Given the description of an element on the screen output the (x, y) to click on. 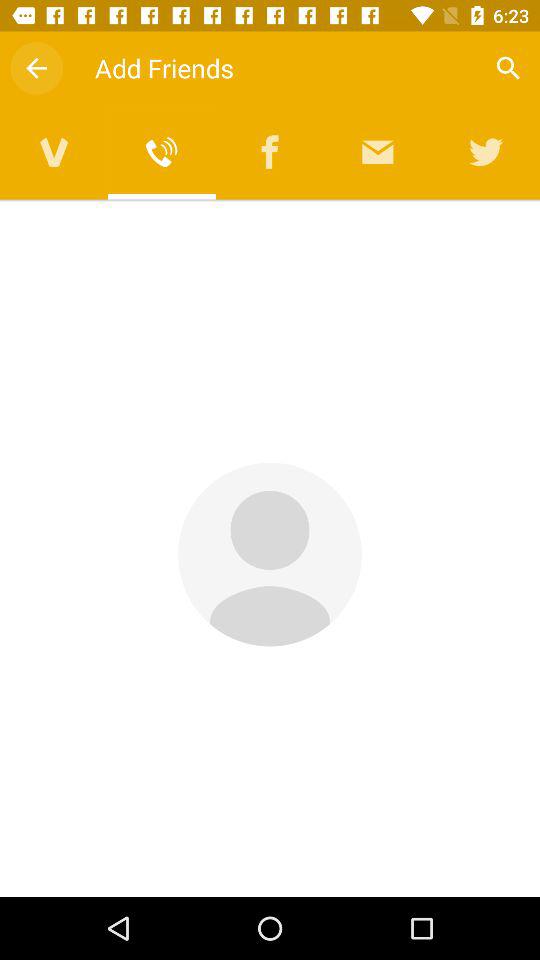
call (162, 152)
